Given the description of an element on the screen output the (x, y) to click on. 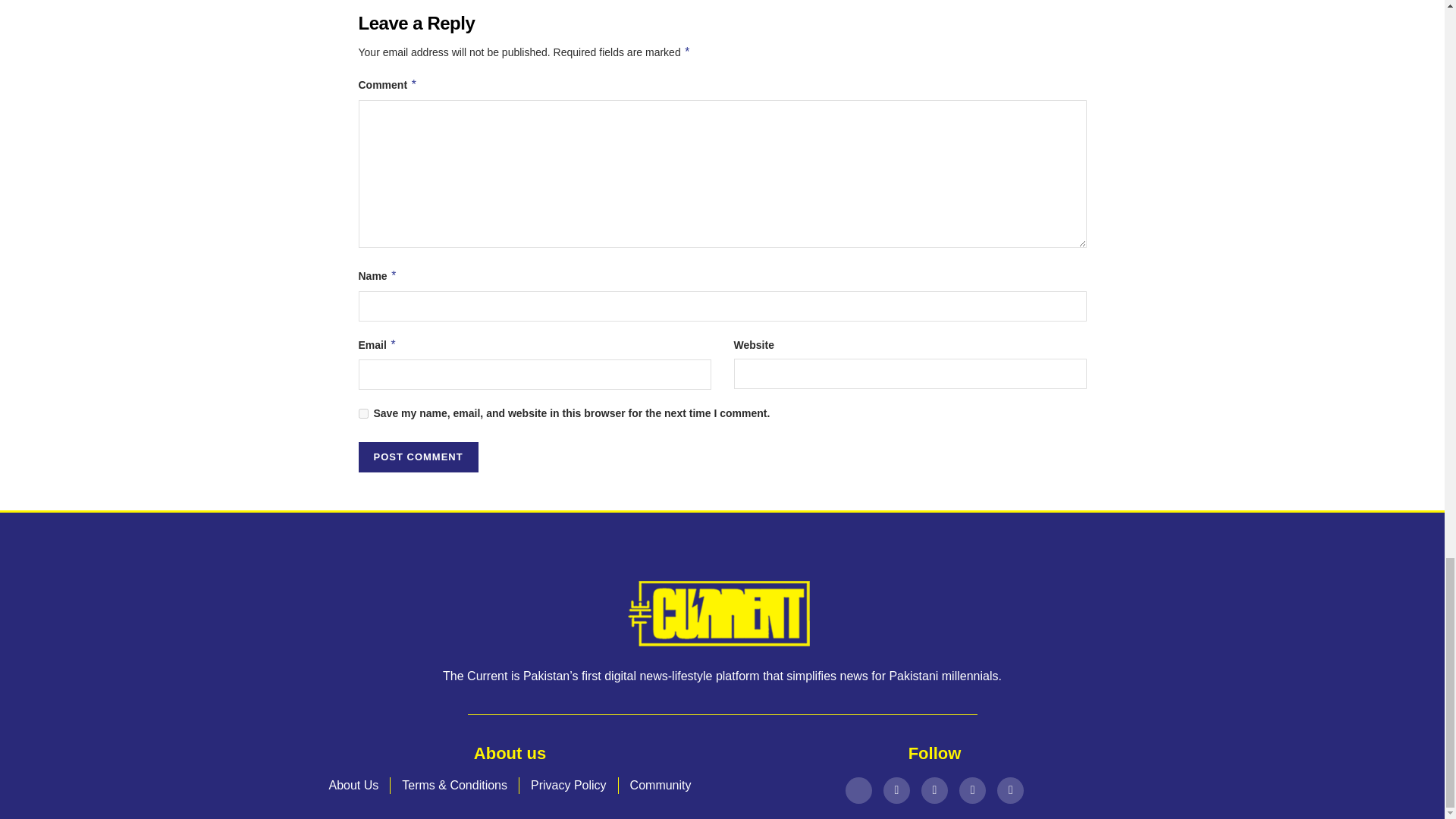
yes (363, 413)
Post Comment (417, 457)
